Given the description of an element on the screen output the (x, y) to click on. 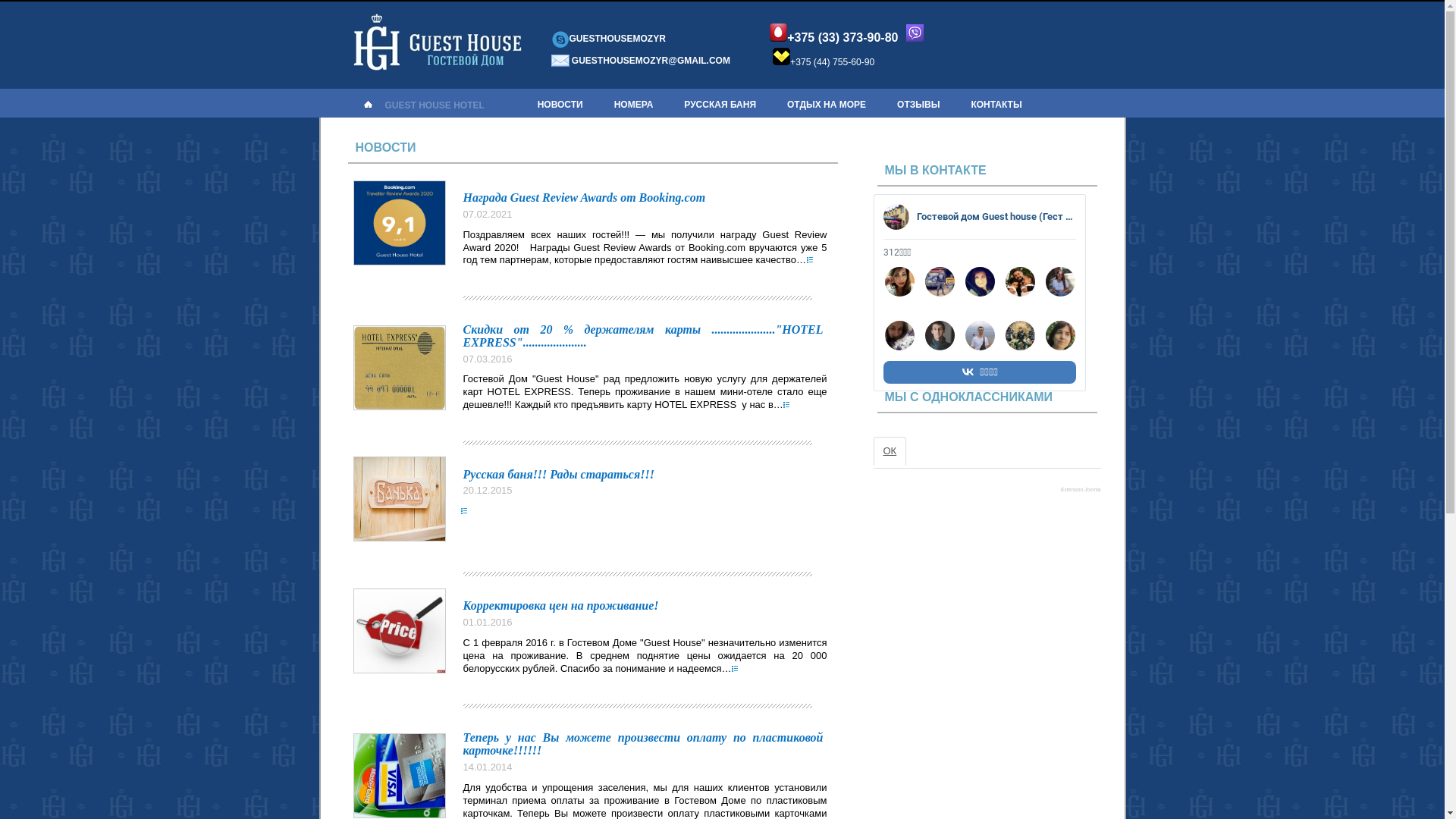
    Element type: text (735, 668)
GUESTHOUSEMOZYR@GMAIL.COM Element type: text (650, 60)
    Element type: text (810, 259)
    Element type: text (465, 510)
GUEST HOUSE HOTEL Element type: text (434, 104)
Extension Joomla Element type: text (1080, 489)
    Element type: text (787, 404)
